Given the description of an element on the screen output the (x, y) to click on. 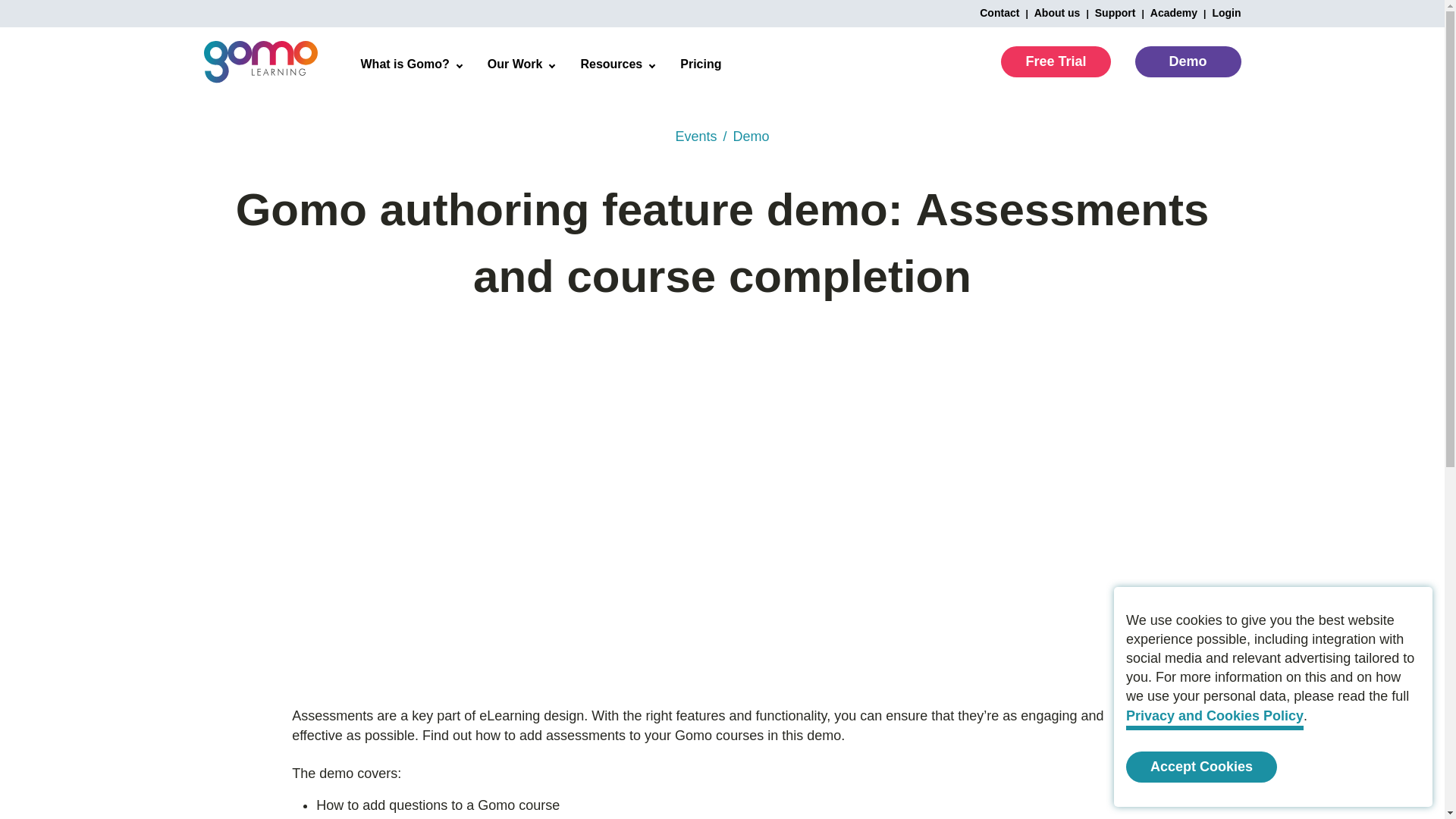
Login (1218, 12)
Contact (999, 12)
Academy (1165, 12)
Events (695, 136)
Free Trial (1055, 60)
Demo (1187, 60)
Home (746, 145)
Support (1107, 12)
Pricing (699, 65)
About us (1049, 12)
Demo (751, 136)
